Given the description of an element on the screen output the (x, y) to click on. 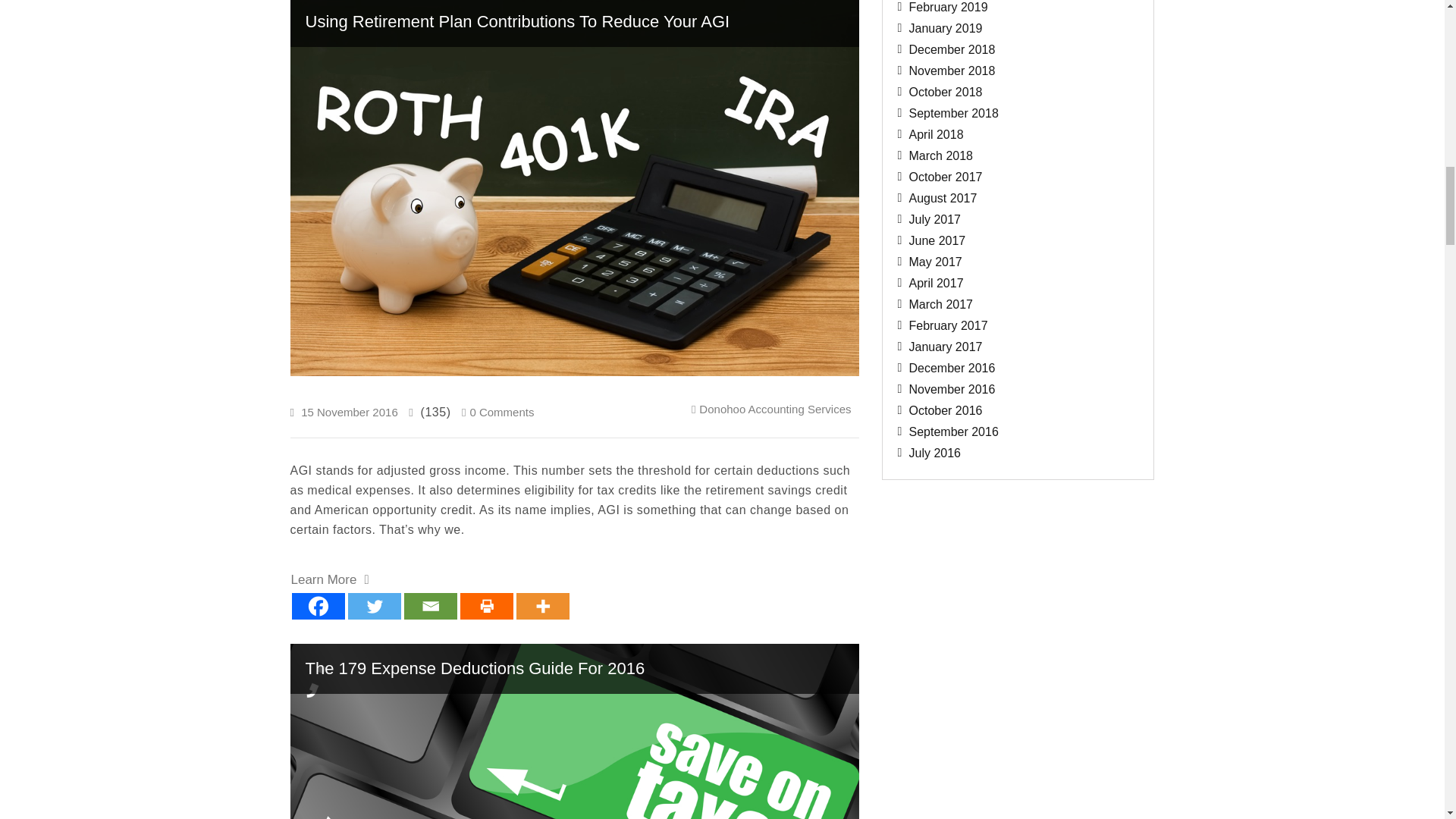
Using Retirement Plan Contributions To Reduce Your AGI (574, 23)
Learn More (330, 579)
Donohoo Accounting Services (774, 408)
